Given the description of an element on the screen output the (x, y) to click on. 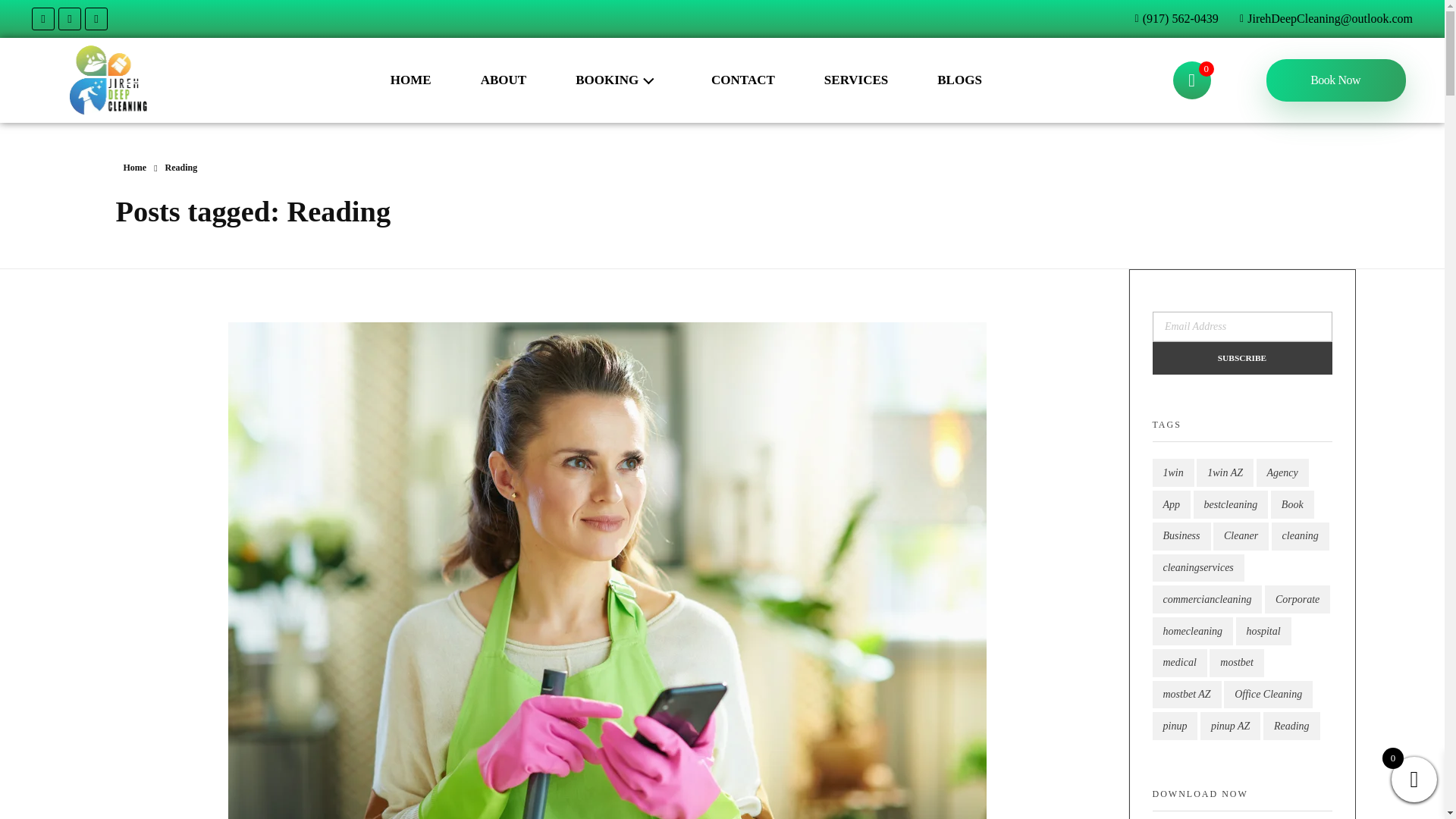
SERVICES (856, 79)
Home (134, 167)
Home (134, 167)
BLOGS (959, 79)
HOME (410, 79)
BOOKING (618, 79)
CONTACT (743, 79)
Book Now (1336, 79)
Subscribe (1242, 358)
ABOUT (502, 79)
